Given the description of an element on the screen output the (x, y) to click on. 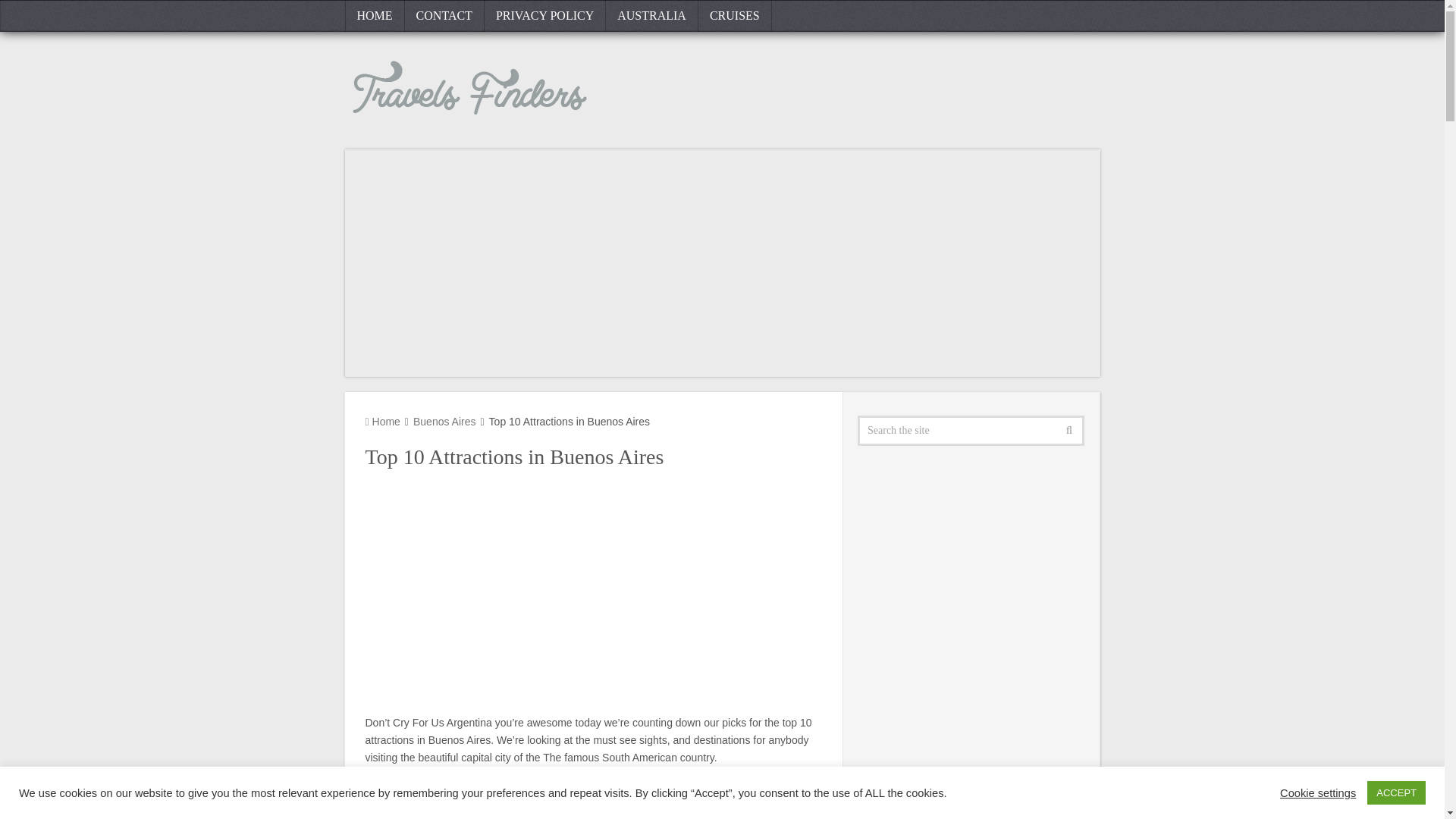
CONTACT (444, 15)
CRUISES (734, 15)
PRIVACY POLICY (544, 15)
Buenos Aires (444, 421)
Home (382, 421)
HOME (373, 15)
AUSTRALIA (651, 15)
